Given the description of an element on the screen output the (x, y) to click on. 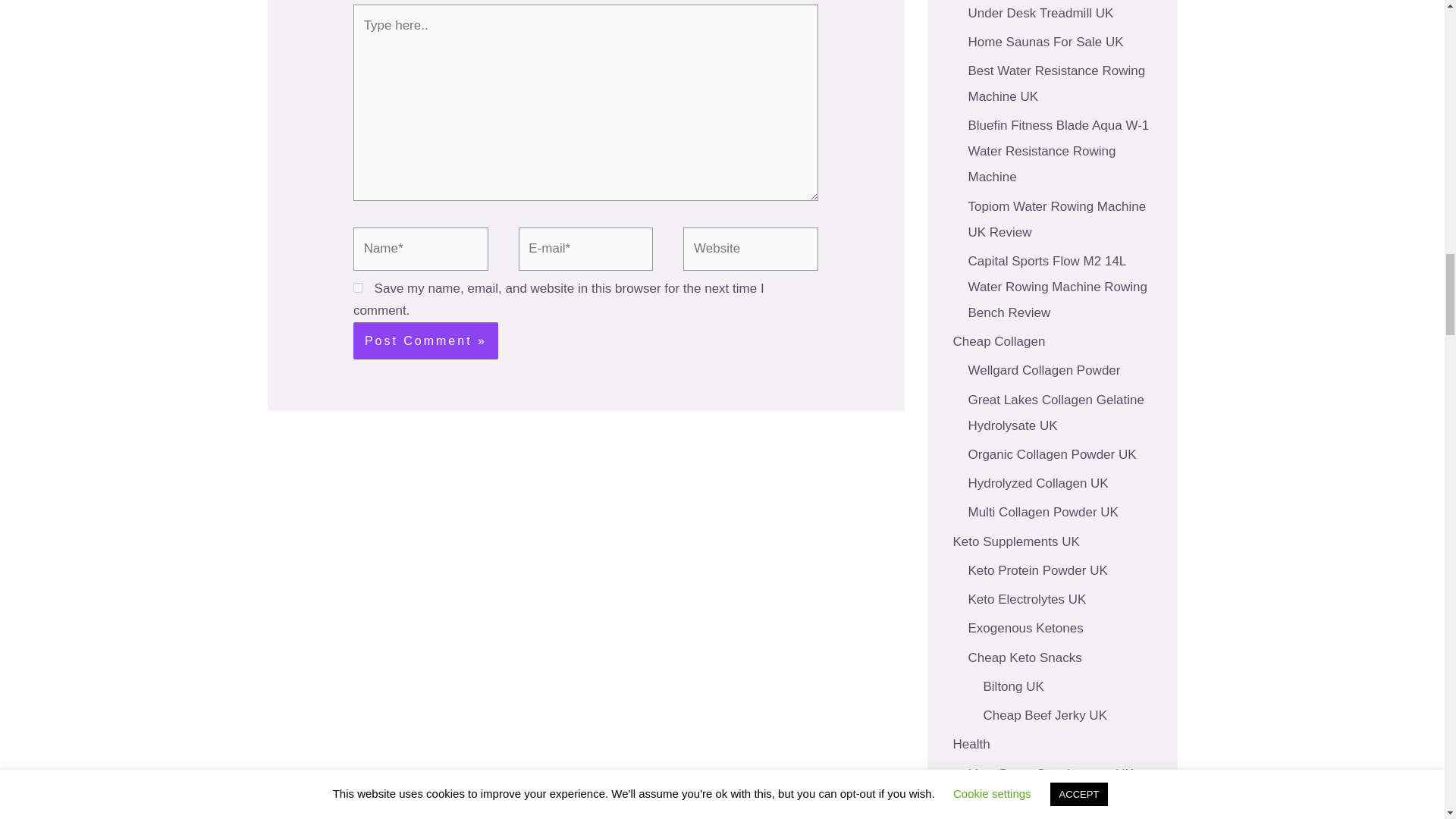
yes (357, 287)
